Given the description of an element on the screen output the (x, y) to click on. 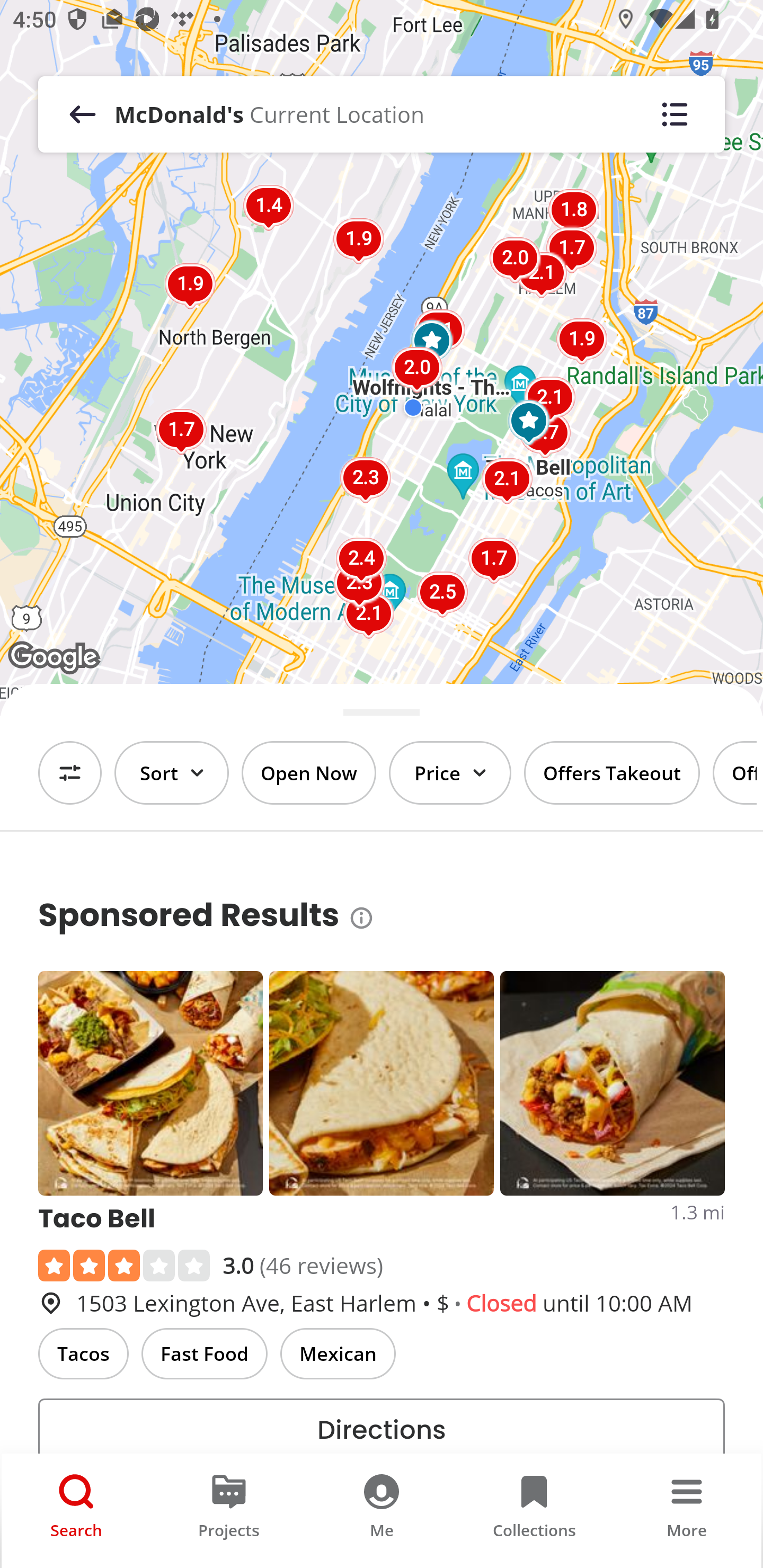
Sort (171, 772)
